Given the description of an element on the screen output the (x, y) to click on. 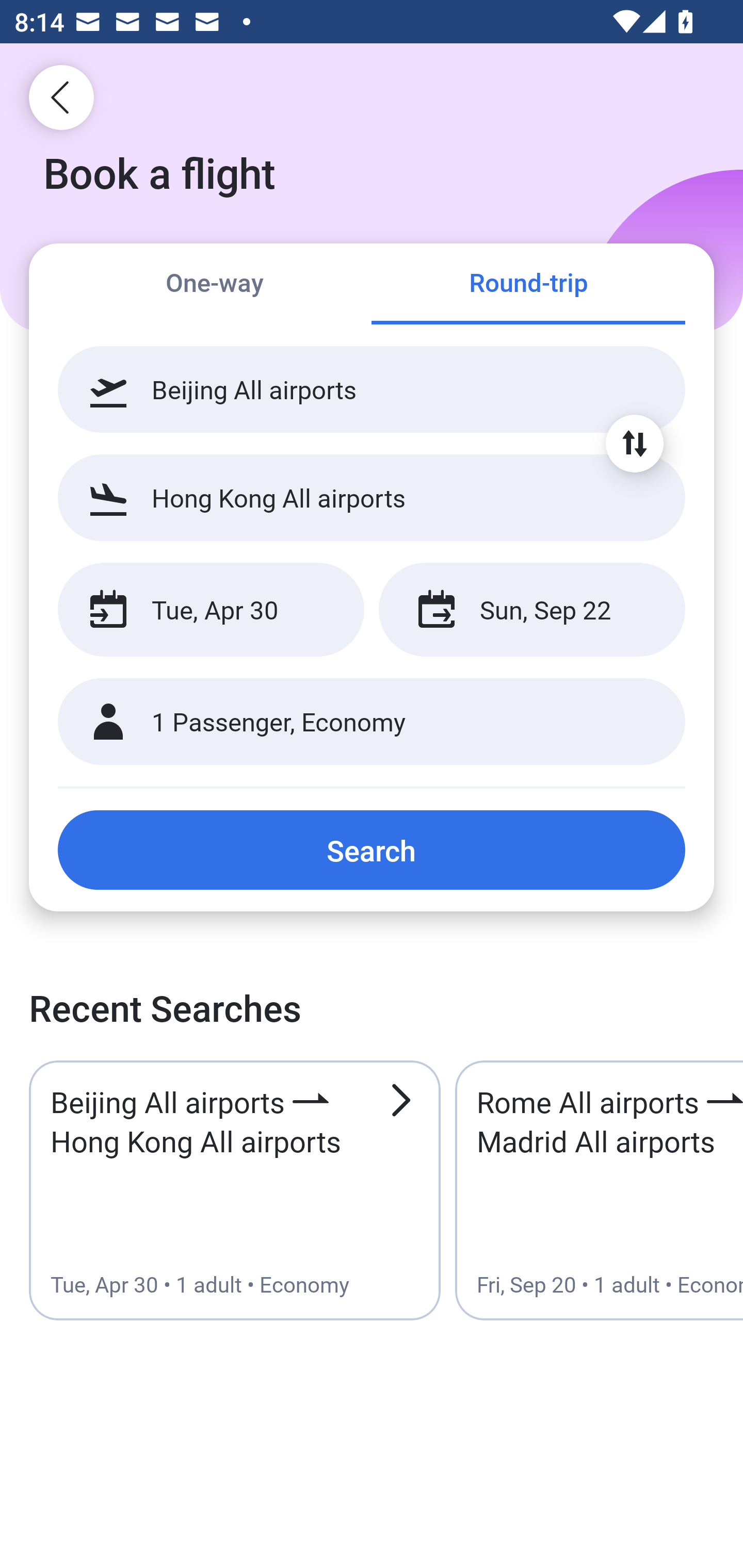
One-way (214, 284)
Beijing All airports (371, 389)
Hong Kong All airports (371, 497)
Tue, Apr 30 (210, 609)
Sun, Sep 22 (531, 609)
1 Passenger, Economy (371, 721)
Search (371, 849)
